Given the description of an element on the screen output the (x, y) to click on. 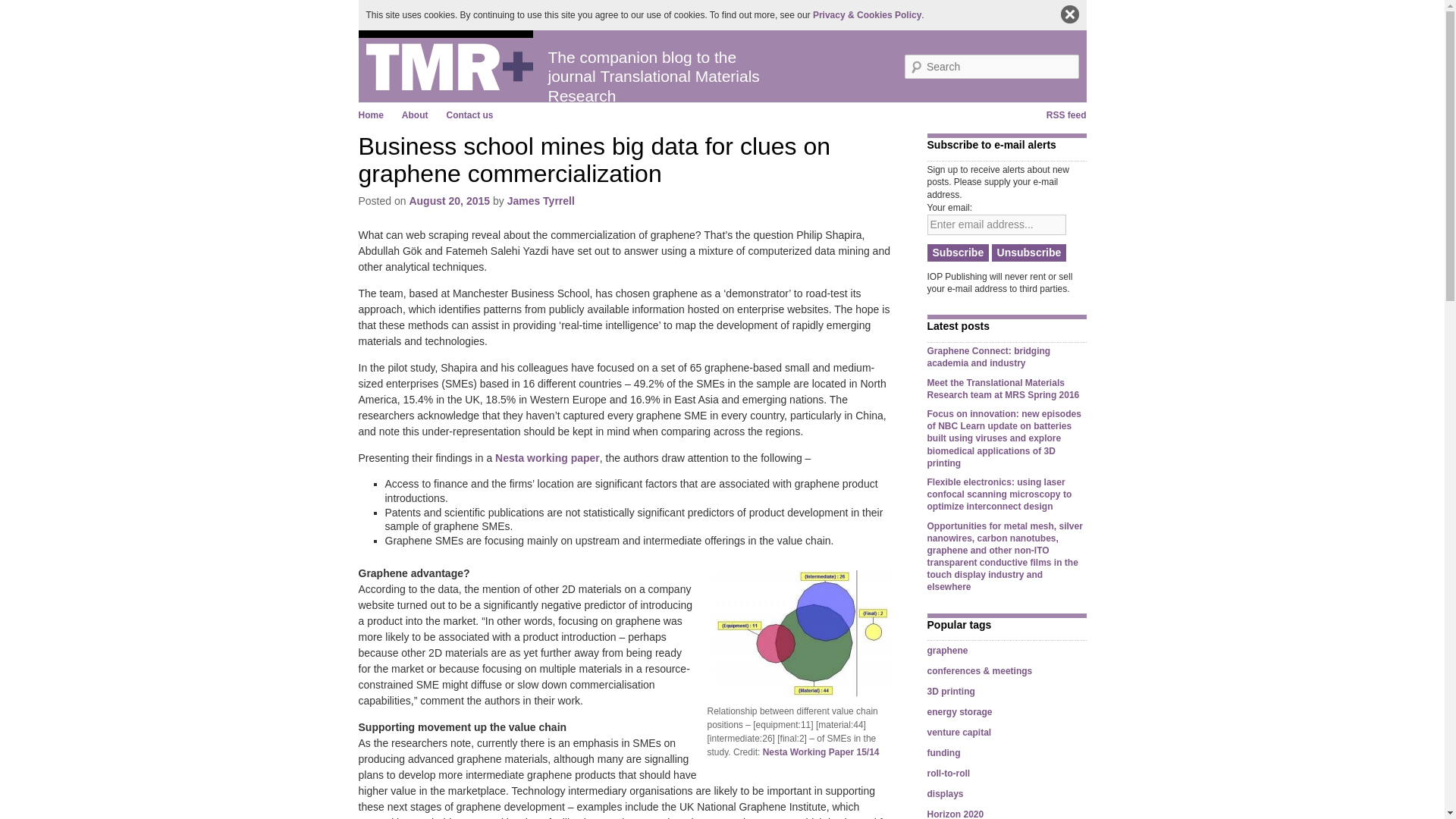
Subscribe (957, 252)
View all posts by James Tyrrell (540, 200)
23 topics (947, 650)
Nesta working paper (547, 458)
20 topics (979, 670)
Home (370, 114)
RSS feed (1066, 114)
